Given the description of an element on the screen output the (x, y) to click on. 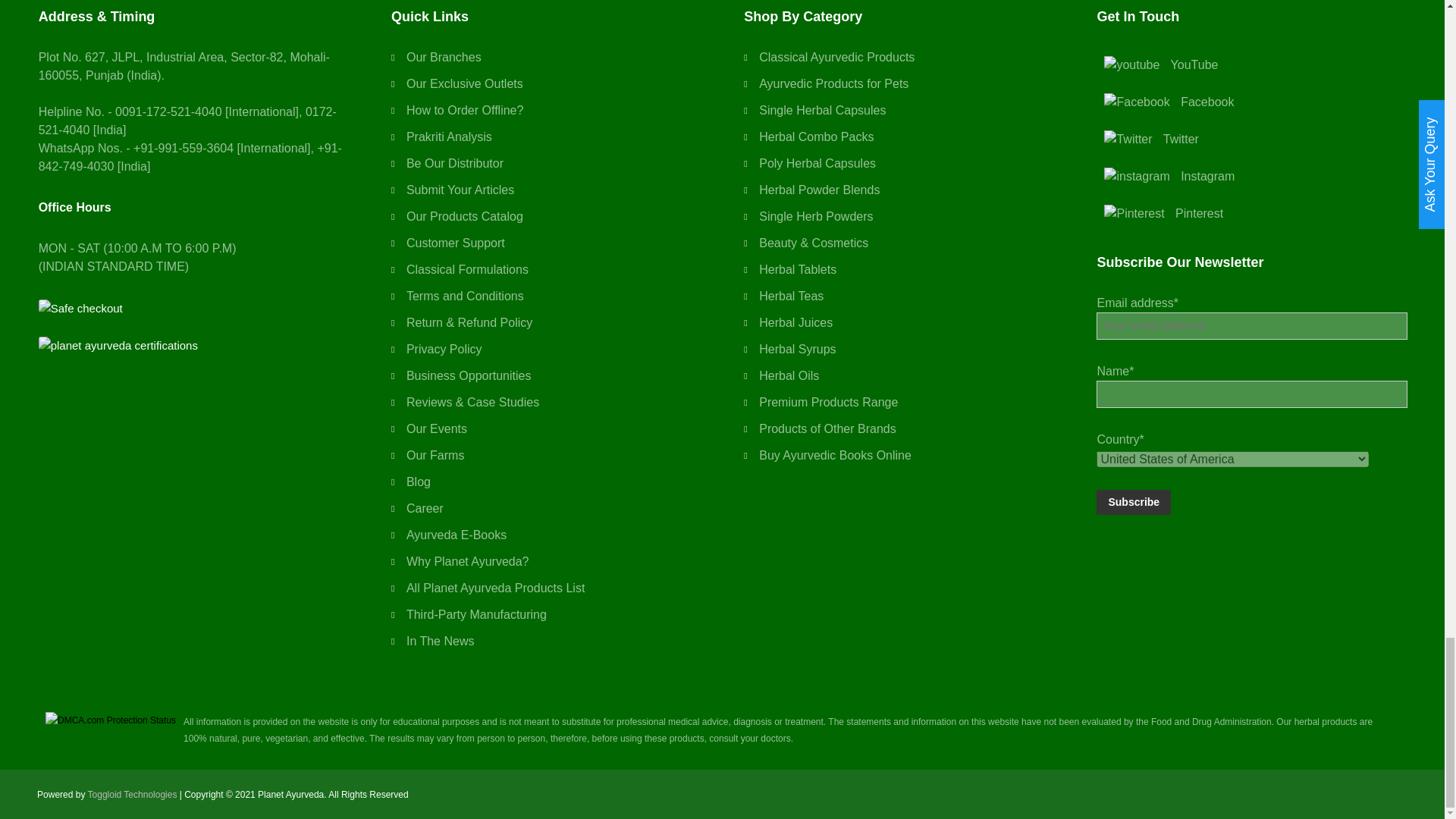
DMCA.com Protection Status (110, 719)
Subscribe (1133, 502)
